Given the description of an element on the screen output the (x, y) to click on. 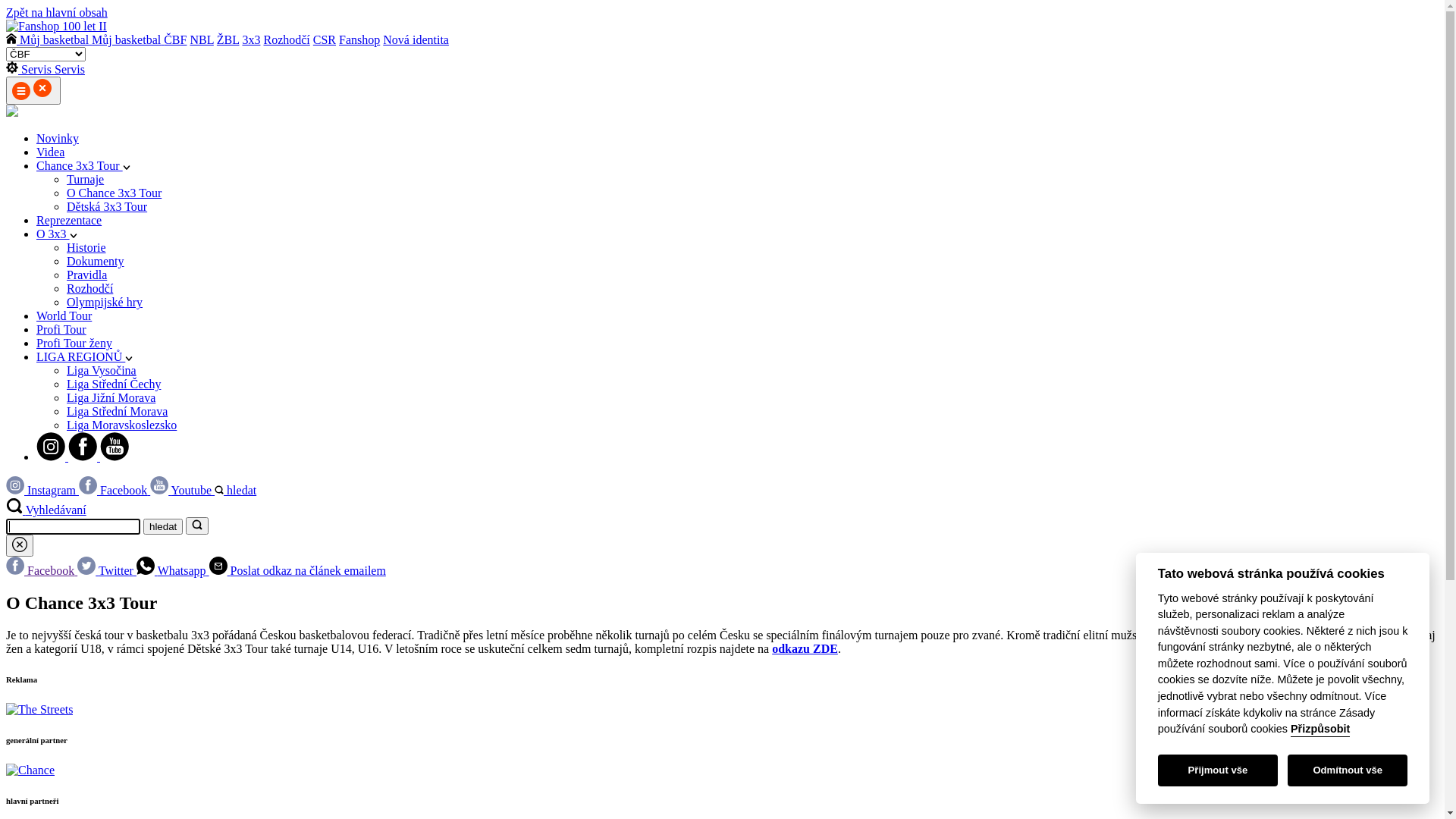
O 3x3 Element type: text (56, 233)
Dokumenty Element type: text (95, 260)
Servis Servis Element type: text (45, 68)
hledat Element type: text (162, 526)
odkazu ZDE Element type: text (804, 648)
Videa Element type: text (50, 151)
World Tour Element type: text (63, 315)
Pravidla Element type: text (86, 274)
Twitter Element type: text (106, 570)
O Chance 3x3 Tour Element type: text (113, 192)
Reprezentace Element type: text (68, 219)
Facebook Element type: text (41, 570)
Turnaje Element type: text (84, 178)
Youtube Element type: text (182, 489)
Profi Tour Element type: text (61, 329)
3x3 Element type: text (250, 39)
Historie Element type: text (86, 247)
NBL Element type: text (201, 39)
hledat Element type: text (235, 489)
Instagram Element type: text (42, 489)
Liga Moravskoslezsko Element type: text (121, 424)
Facebook Element type: text (114, 489)
CSR Element type: text (324, 39)
Chance 3x3 Tour Element type: text (83, 165)
Whatsapp Element type: text (172, 570)
Novinky Element type: text (57, 137)
Fanshop Element type: text (358, 39)
